Given the description of an element on the screen output the (x, y) to click on. 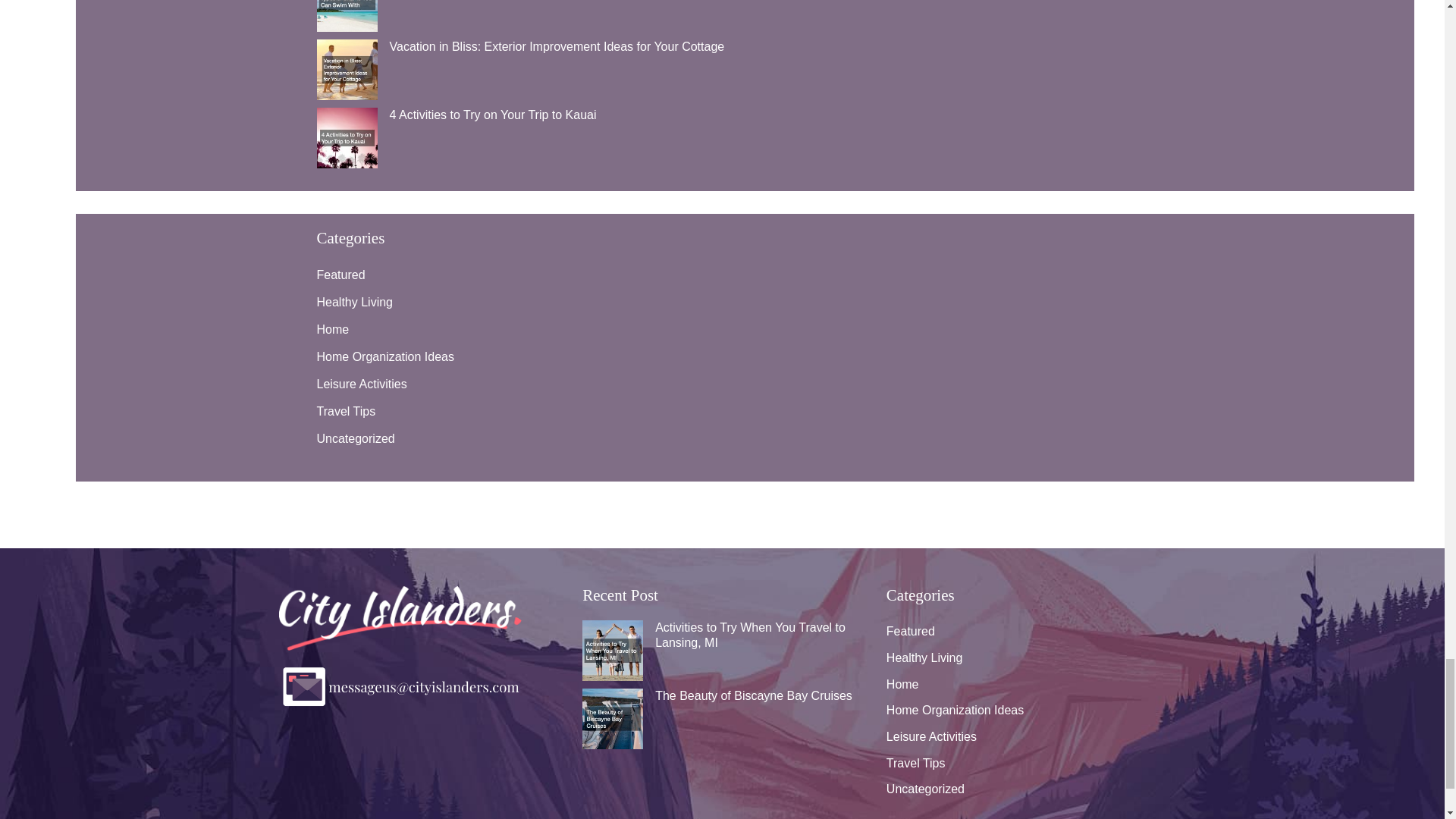
Home Organization Ideas (385, 356)
Uncategorized (355, 438)
Featured (341, 274)
Home (333, 328)
Leisure Activities (362, 383)
4 Activities to Try on Your Trip to Kauai (493, 114)
Healthy Living (355, 301)
Travel Tips (346, 410)
